Given the description of an element on the screen output the (x, y) to click on. 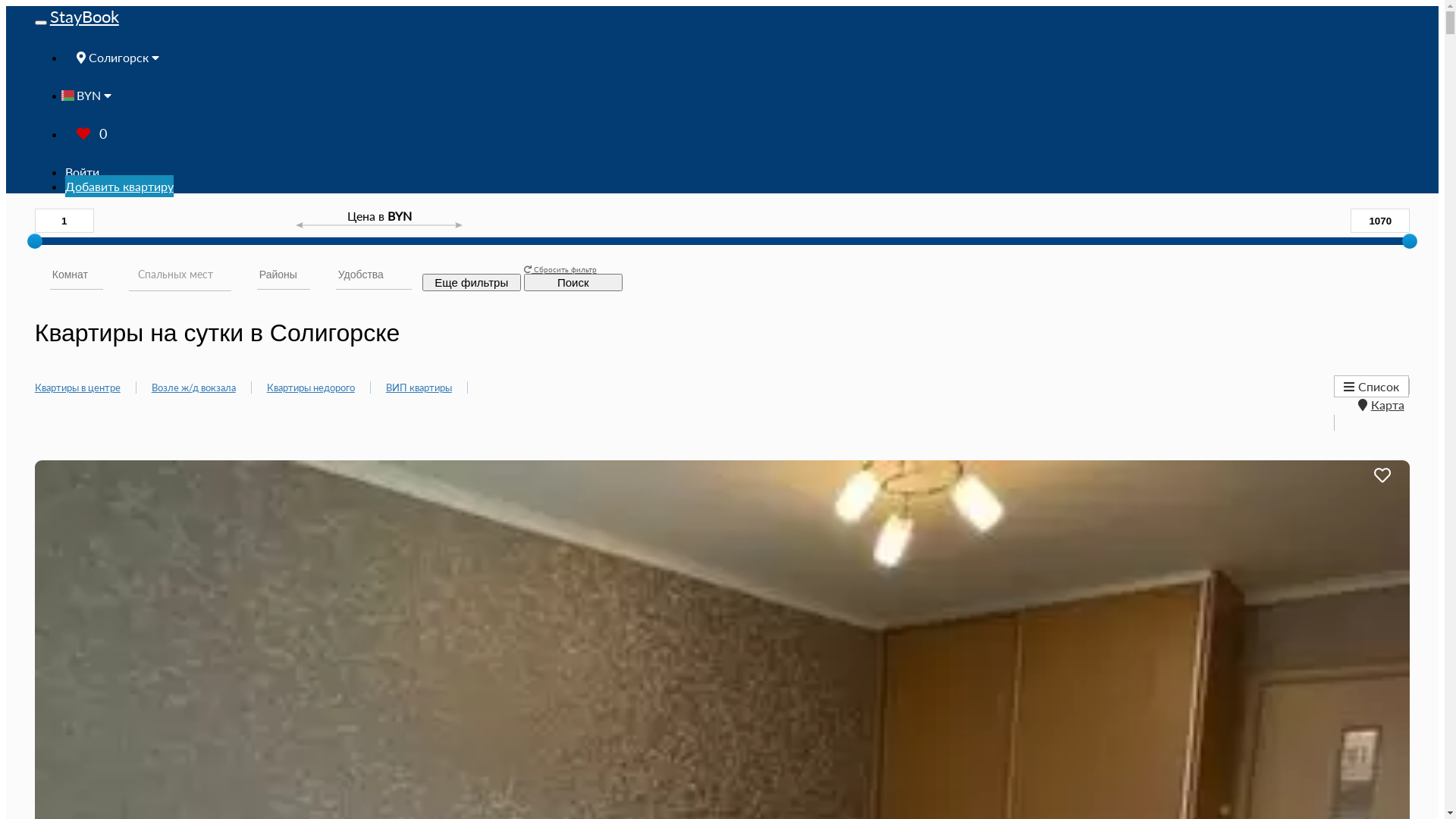
0 Element type: text (91, 133)
Toggle navigation Element type: text (40, 22)
StayBook Element type: text (84, 16)
